Given the description of an element on the screen output the (x, y) to click on. 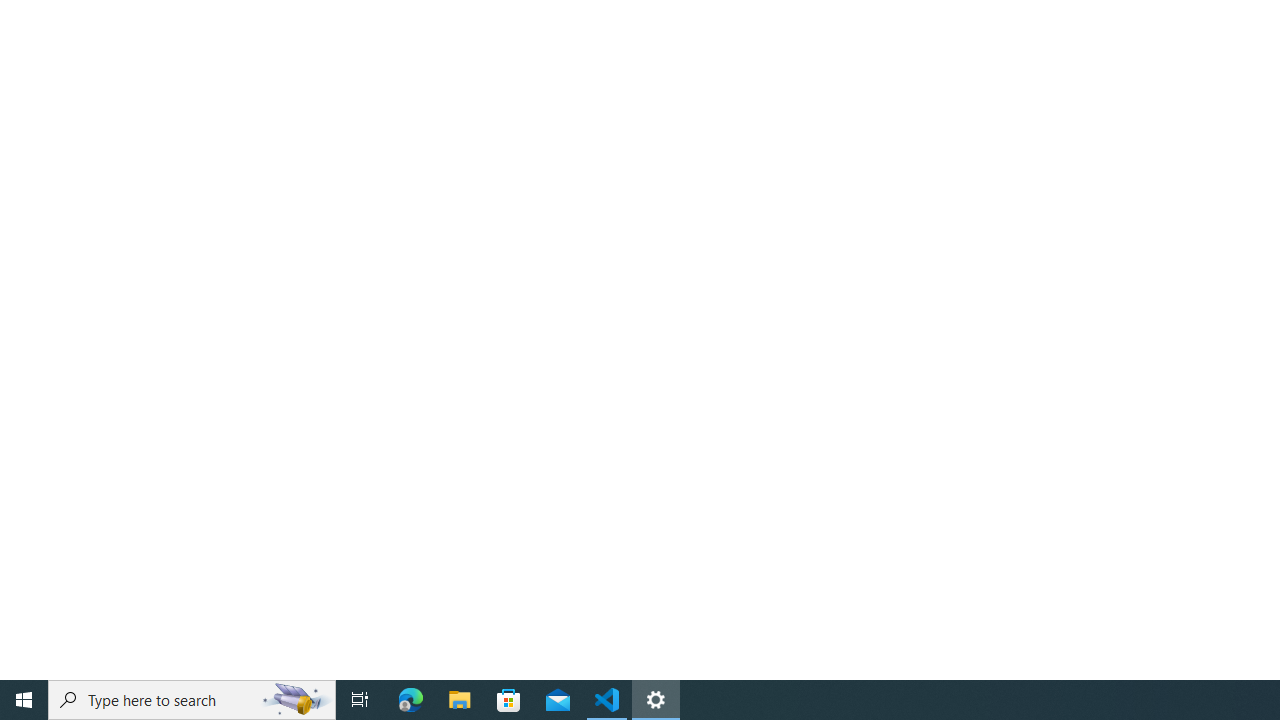
Search highlights icon opens search home window (295, 699)
Microsoft Edge (411, 699)
Task View (359, 699)
Type here to search (191, 699)
File Explorer (460, 699)
Settings - 1 running window (656, 699)
Microsoft Store (509, 699)
Visual Studio Code - 1 running window (607, 699)
